Given the description of an element on the screen output the (x, y) to click on. 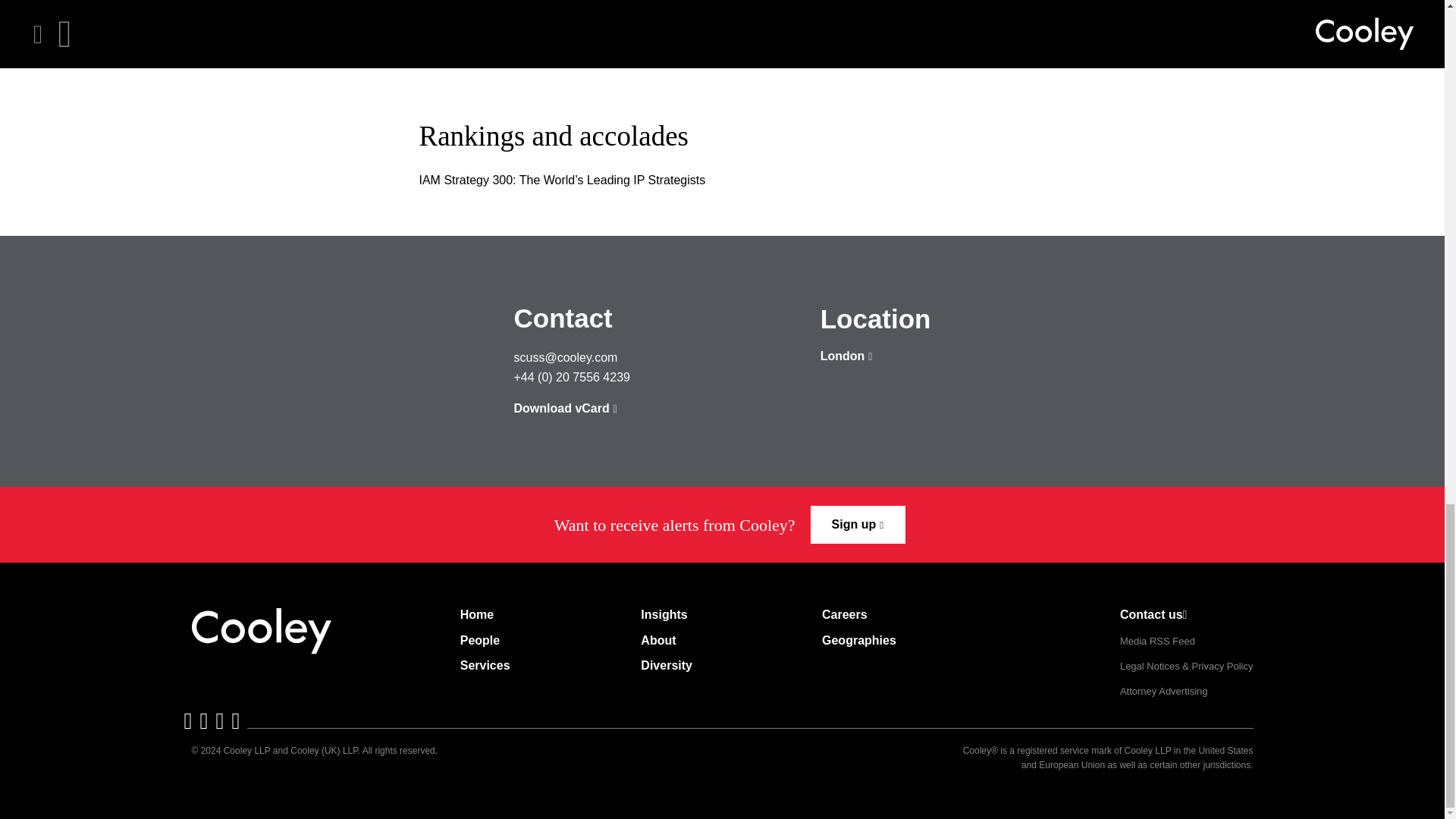
Geographies (859, 640)
People (479, 640)
Sign up (857, 524)
About (657, 640)
Insights (663, 614)
Services (485, 665)
Careers (844, 614)
London (846, 356)
Diversity (666, 665)
Contact us (1153, 614)
